Given the description of an element on the screen output the (x, y) to click on. 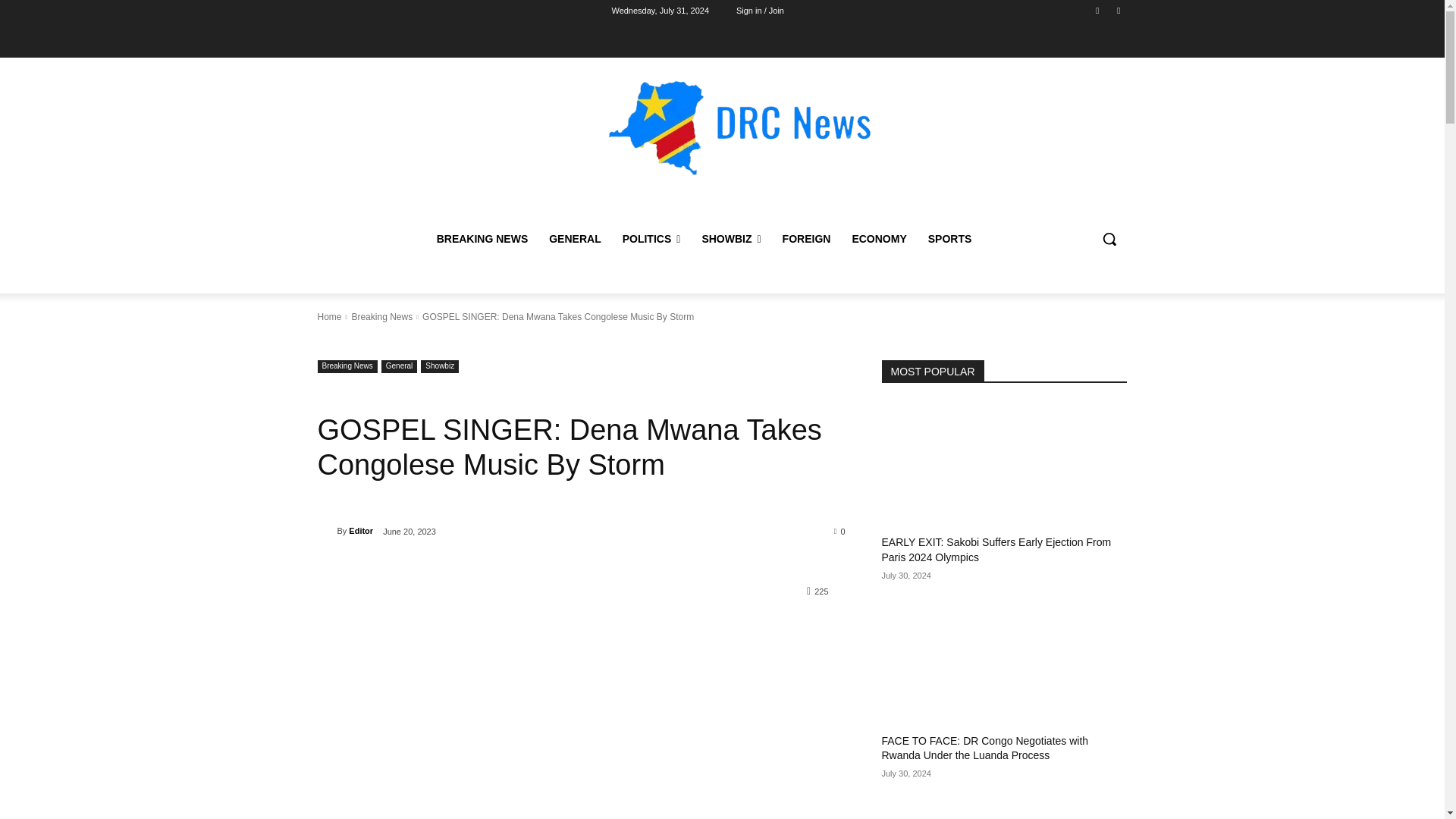
Facebook (1097, 9)
GENERAL (574, 238)
SHOWBIZ (730, 238)
Twitter (1117, 9)
BREAKING NEWS (482, 238)
POLITICS (651, 238)
